Given the description of an element on the screen output the (x, y) to click on. 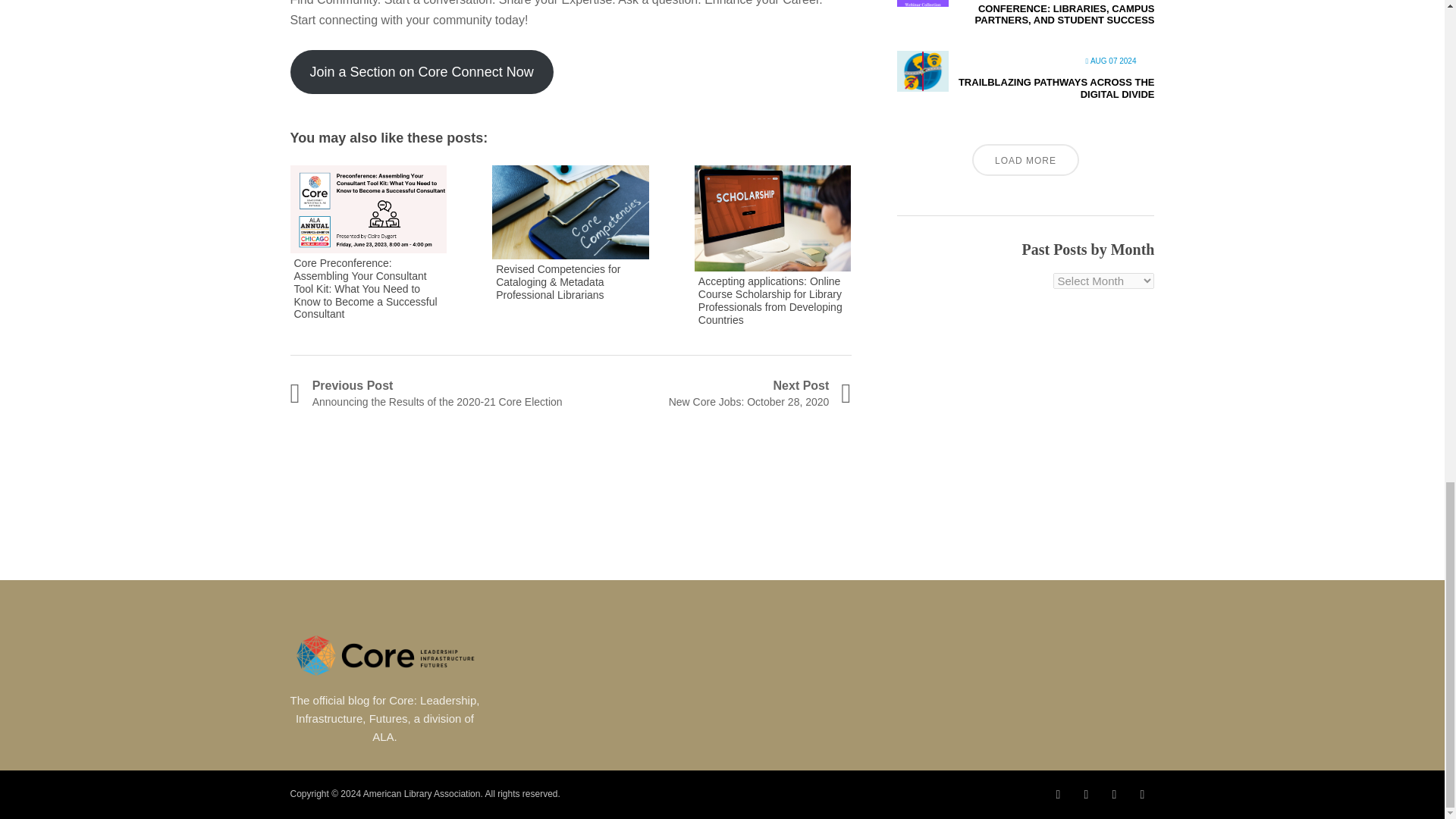
Join a Section on Core Connect Now (710, 393)
